Given the description of an element on the screen output the (x, y) to click on. 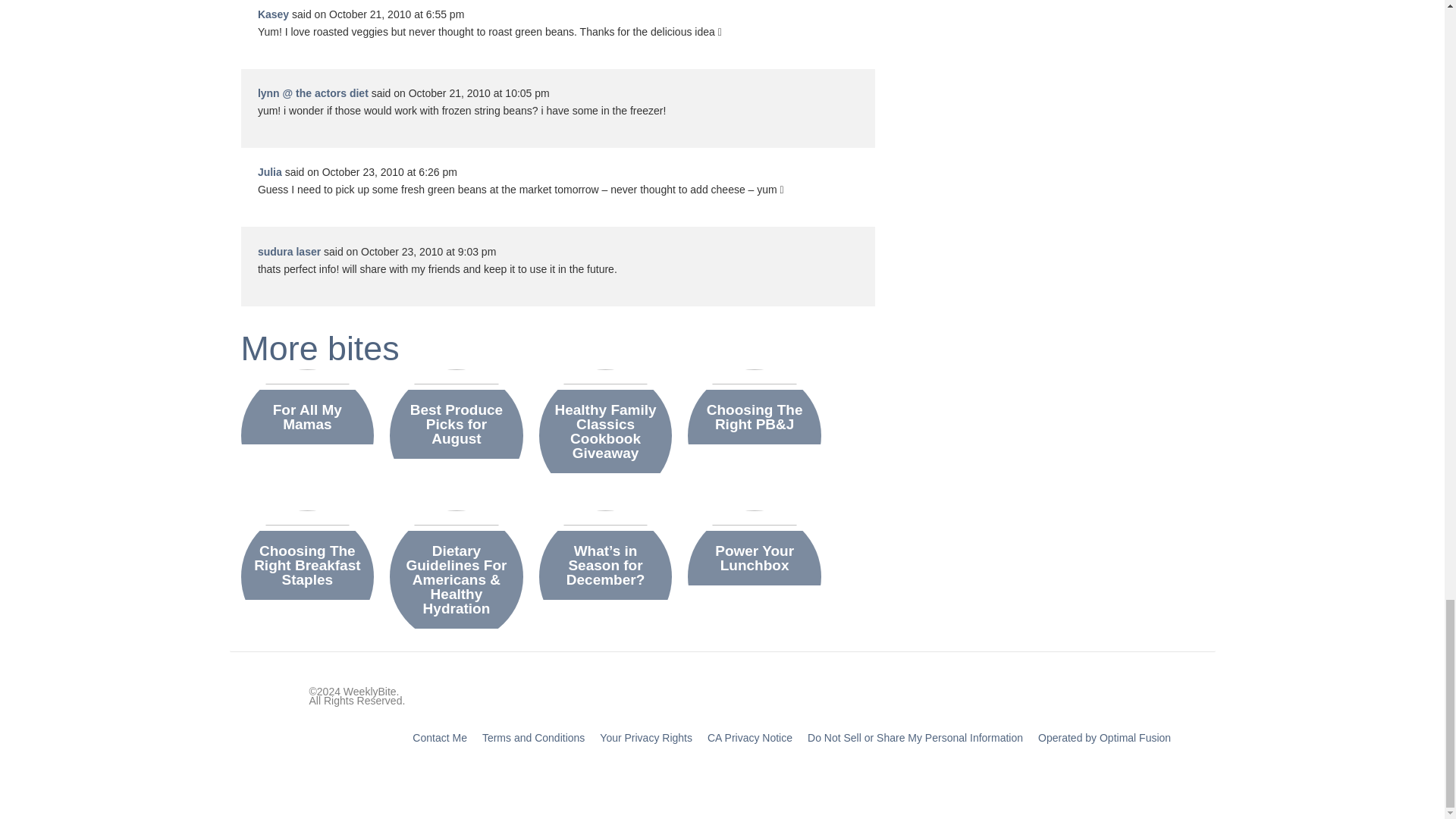
Kasey (272, 14)
Julia (269, 172)
Do Not Sell or Share My Personal Information (915, 737)
